Given the description of an element on the screen output the (x, y) to click on. 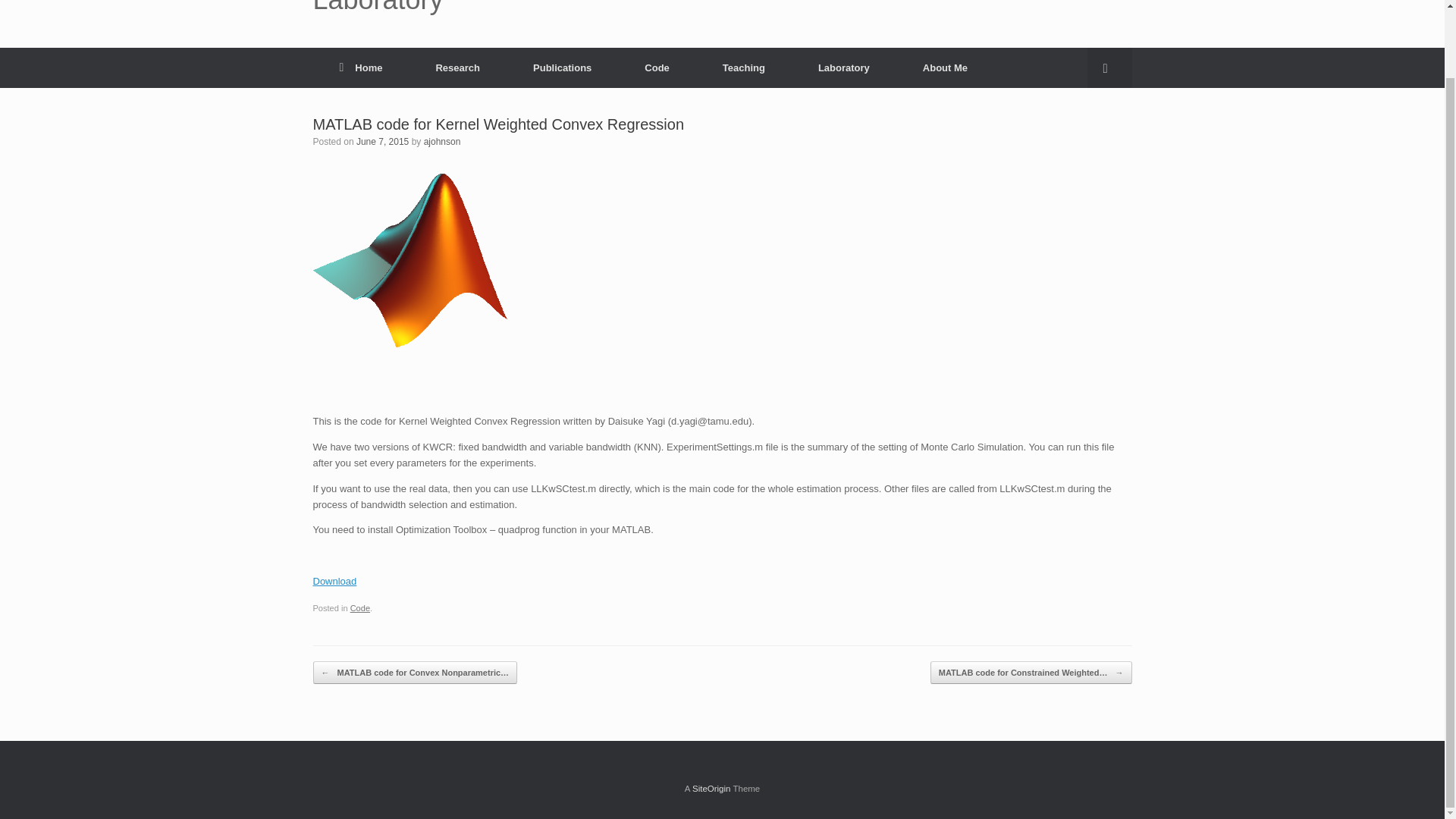
Laboratory (844, 67)
Publications (561, 67)
Productivity and Efficiency Measurement Laboratory (577, 6)
View all posts by ajohnson (442, 141)
Code (656, 67)
ajohnson (442, 141)
June 7, 2015 (382, 141)
Research (457, 67)
10:47 pm (382, 141)
Productivity and Efficiency Measurement Laboratory (577, 6)
Teaching (743, 67)
About Me (945, 67)
Home (361, 67)
